Given the description of an element on the screen output the (x, y) to click on. 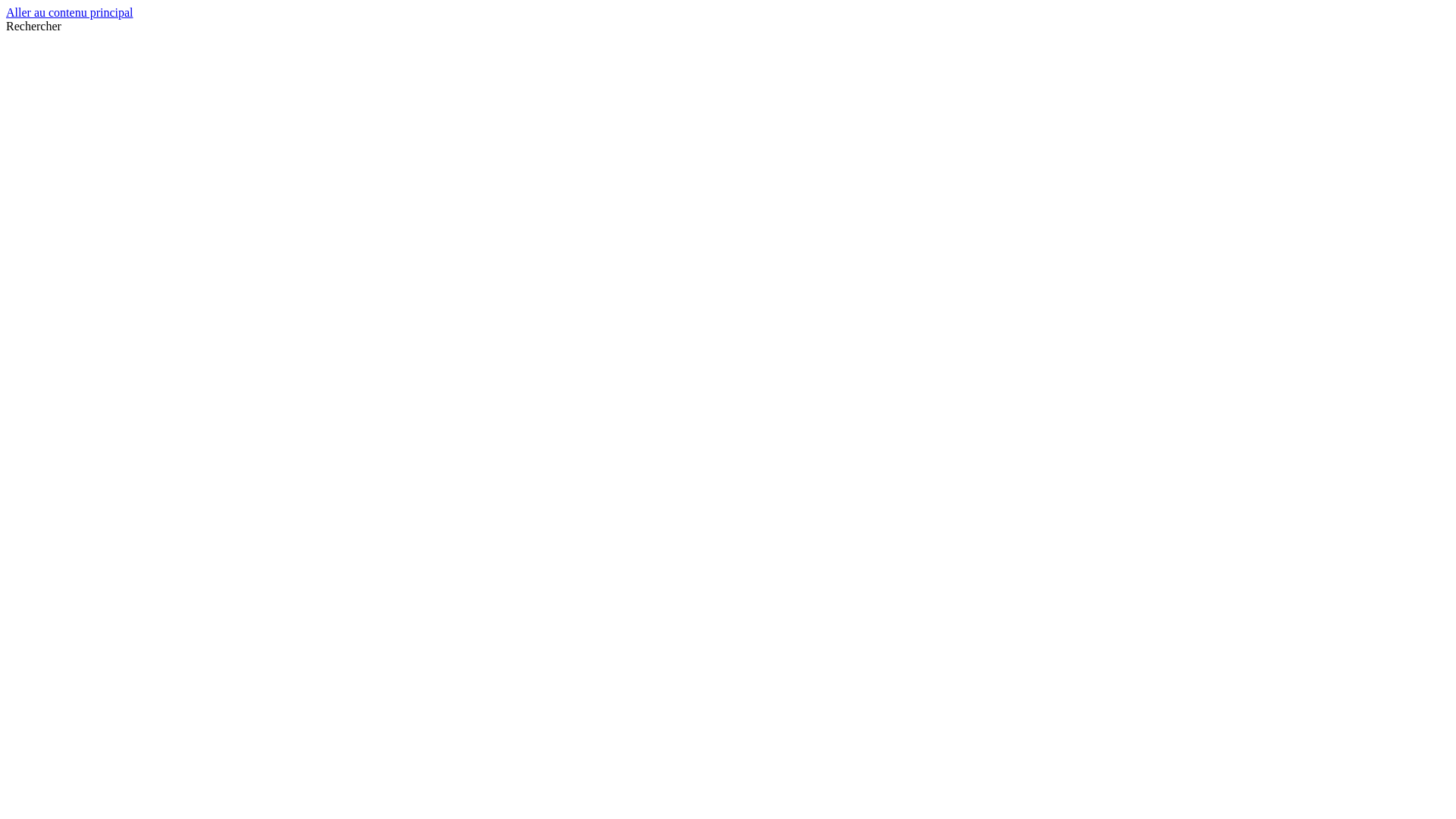
Aller au contenu principal Element type: text (69, 12)
